Given the description of an element on the screen output the (x, y) to click on. 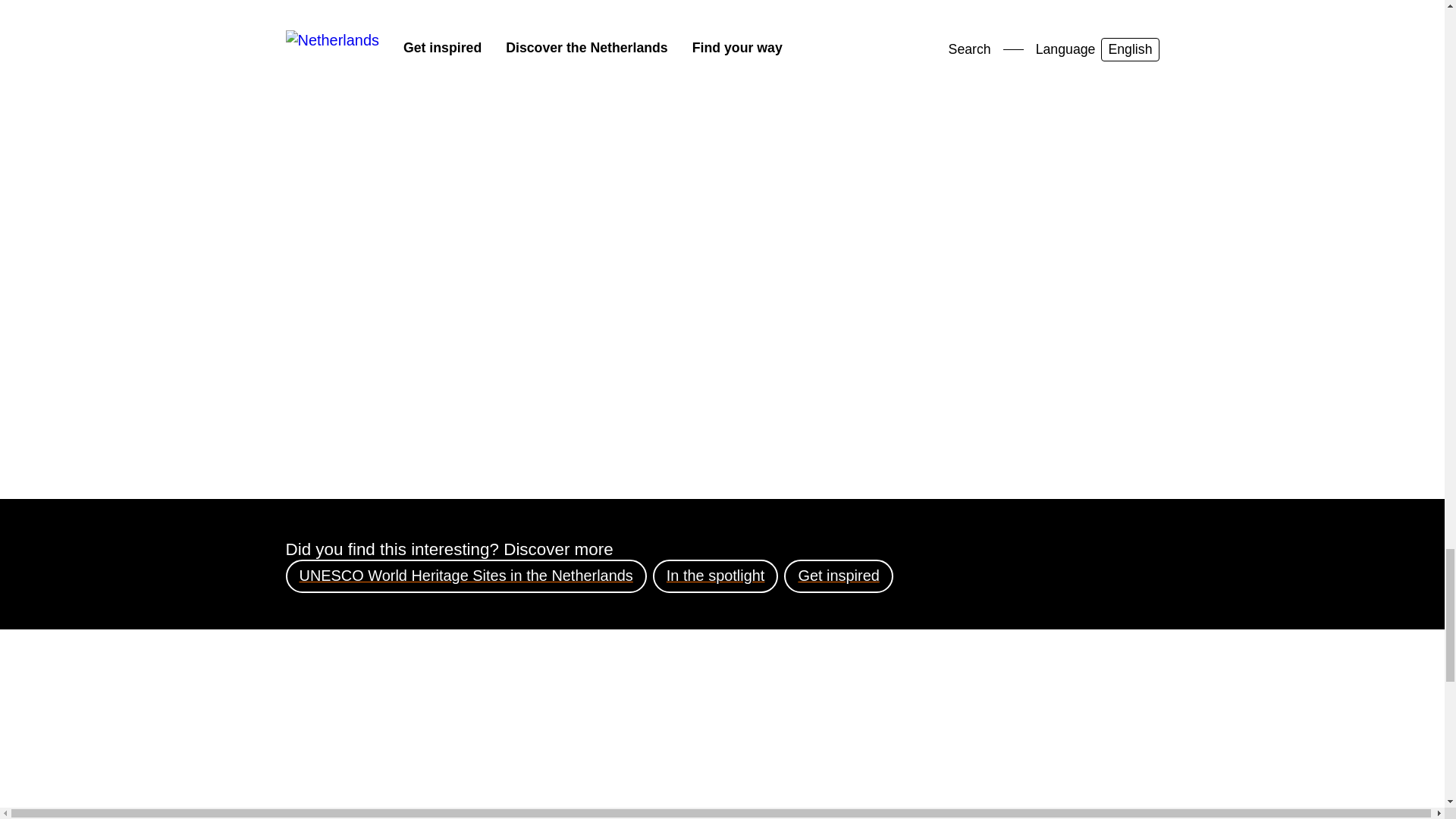
UNESCO World Heritage Sites in the Netherlands (465, 575)
In the spotlight (715, 575)
Rotterdam (824, 4)
Get inspired (838, 575)
